Given the description of an element on the screen output the (x, y) to click on. 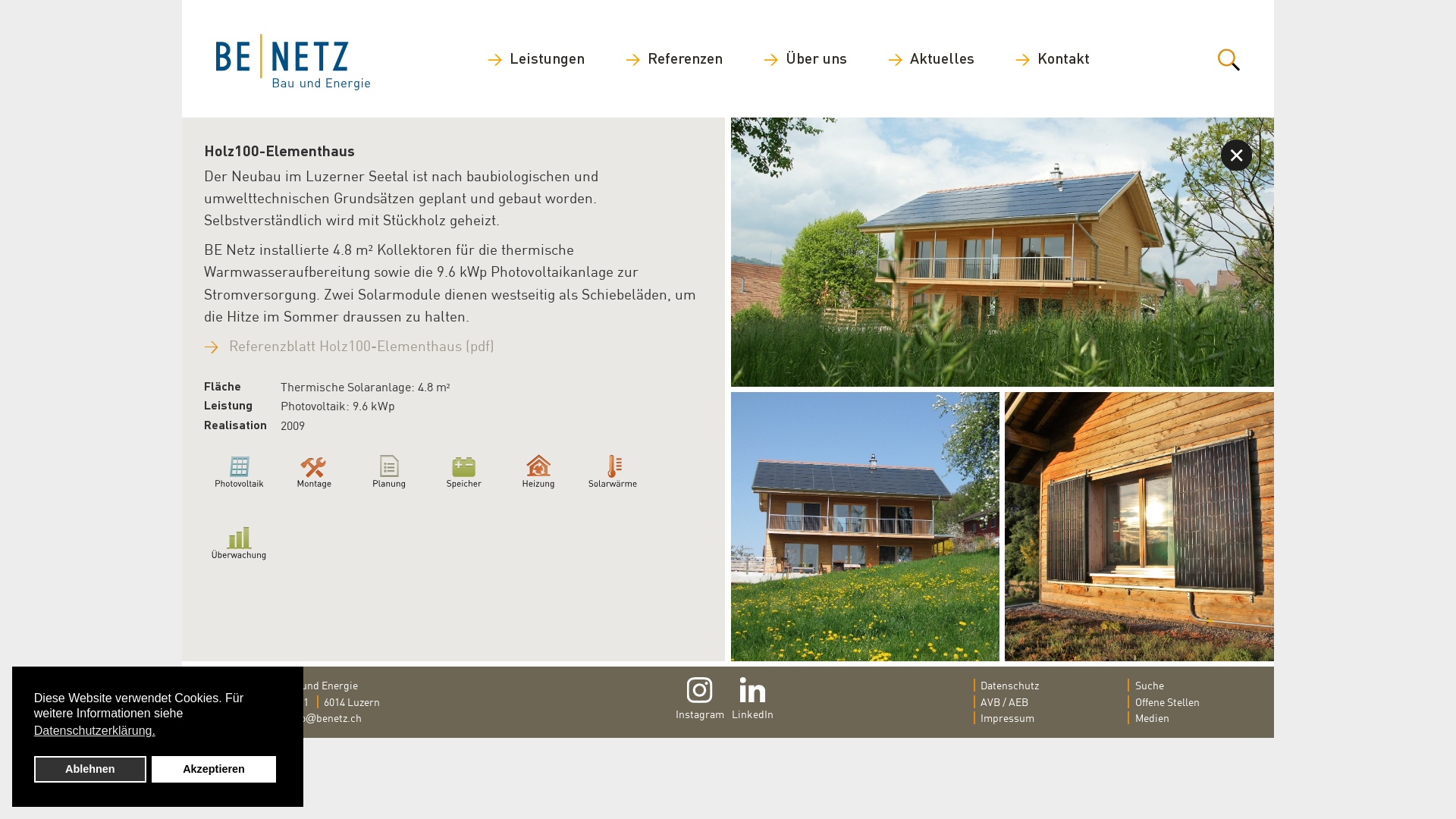
Referenzen Element type: text (674, 57)
LinkedIn Element type: text (751, 699)
Kontakt Element type: text (1052, 57)
Aktuelles Element type: text (930, 57)
Impressum Element type: text (1030, 717)
Referenzblatt Holz100-Elementhaus (pdf) Element type: text (361, 345)
Ablehnen Element type: text (90, 768)
Datenschutz Element type: text (1030, 685)
Offene Stellen Element type: text (1184, 701)
Instagram Element type: text (698, 699)
AVB / AEB Element type: text (1030, 701)
info@benetz.ch Element type: text (325, 717)
Suche Element type: text (1184, 685)
Leistungen Element type: text (536, 57)
Akzeptieren Element type: text (213, 768)
Medien Element type: text (1184, 717)
